Given the description of an element on the screen output the (x, y) to click on. 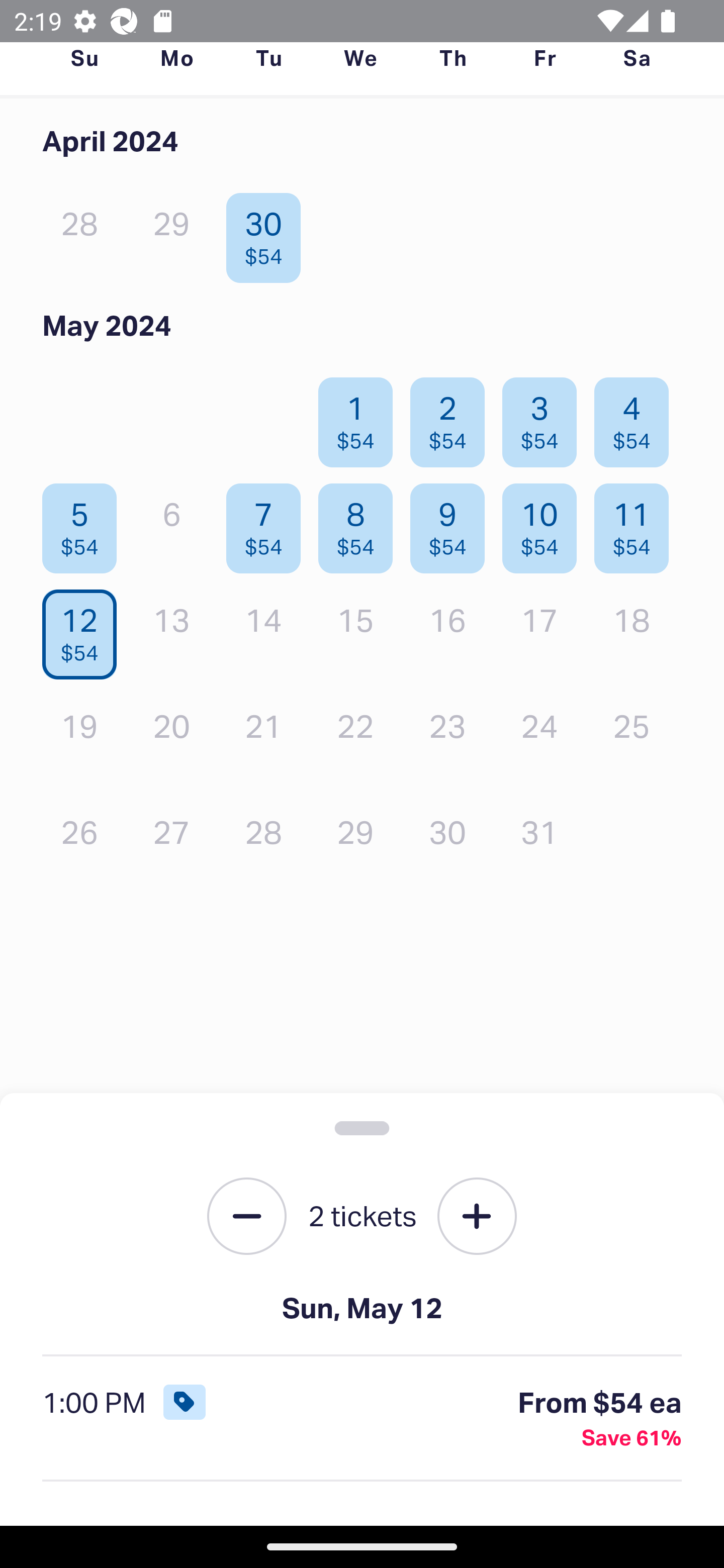
30 $54 (268, 232)
1 $54 (360, 417)
2 $54 (452, 417)
3 $54 (544, 417)
4 $54 (636, 417)
5 $54 (84, 524)
7 $54 (268, 524)
8 $54 (360, 524)
9 $54 (452, 524)
10 $54 (544, 524)
11 $54 (636, 524)
12 $54 (84, 629)
1:00 PM From $54 ea Save 61% (361, 1418)
